Given the description of an element on the screen output the (x, y) to click on. 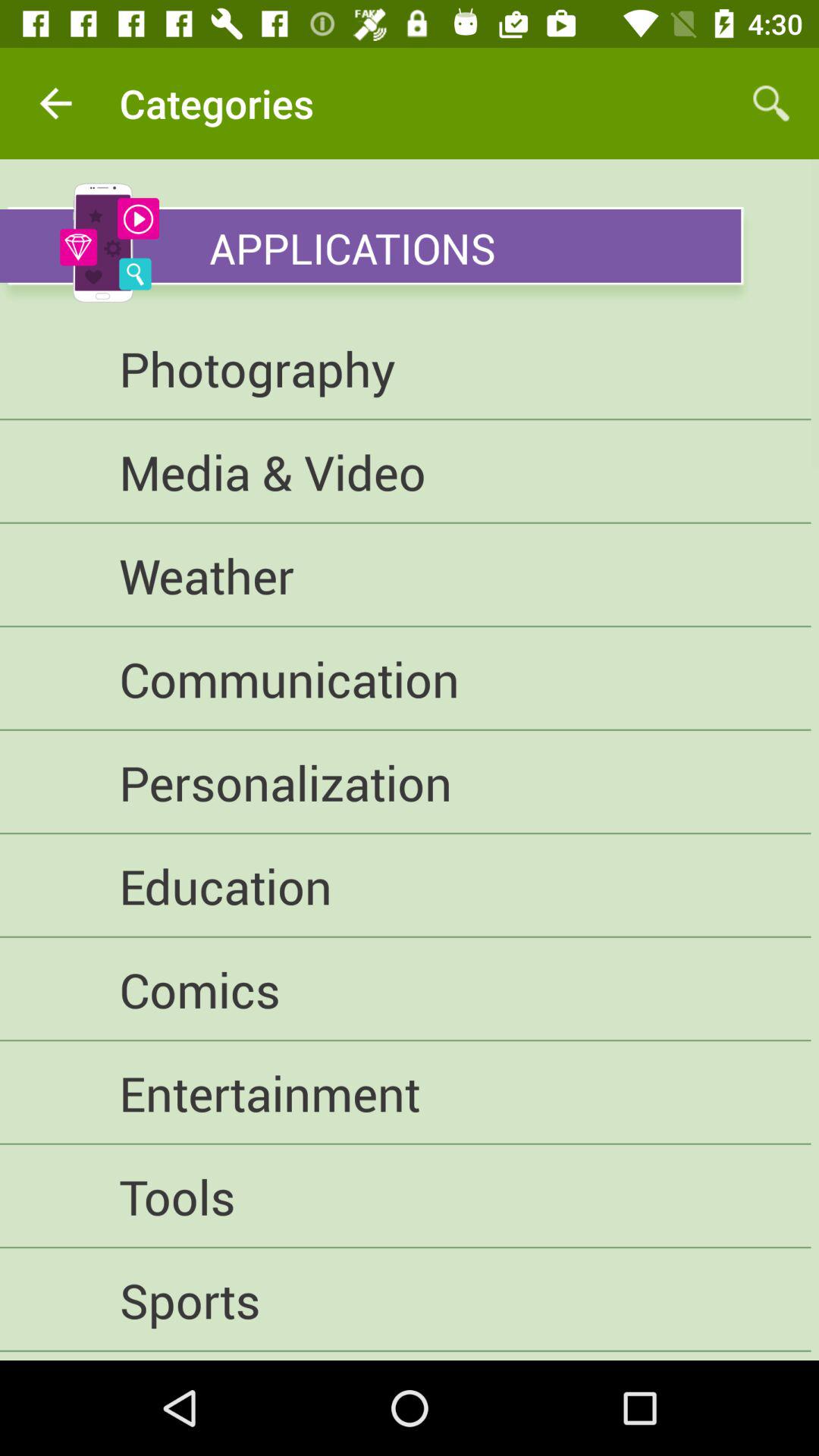
click the weather item (405, 575)
